Given the description of an element on the screen output the (x, y) to click on. 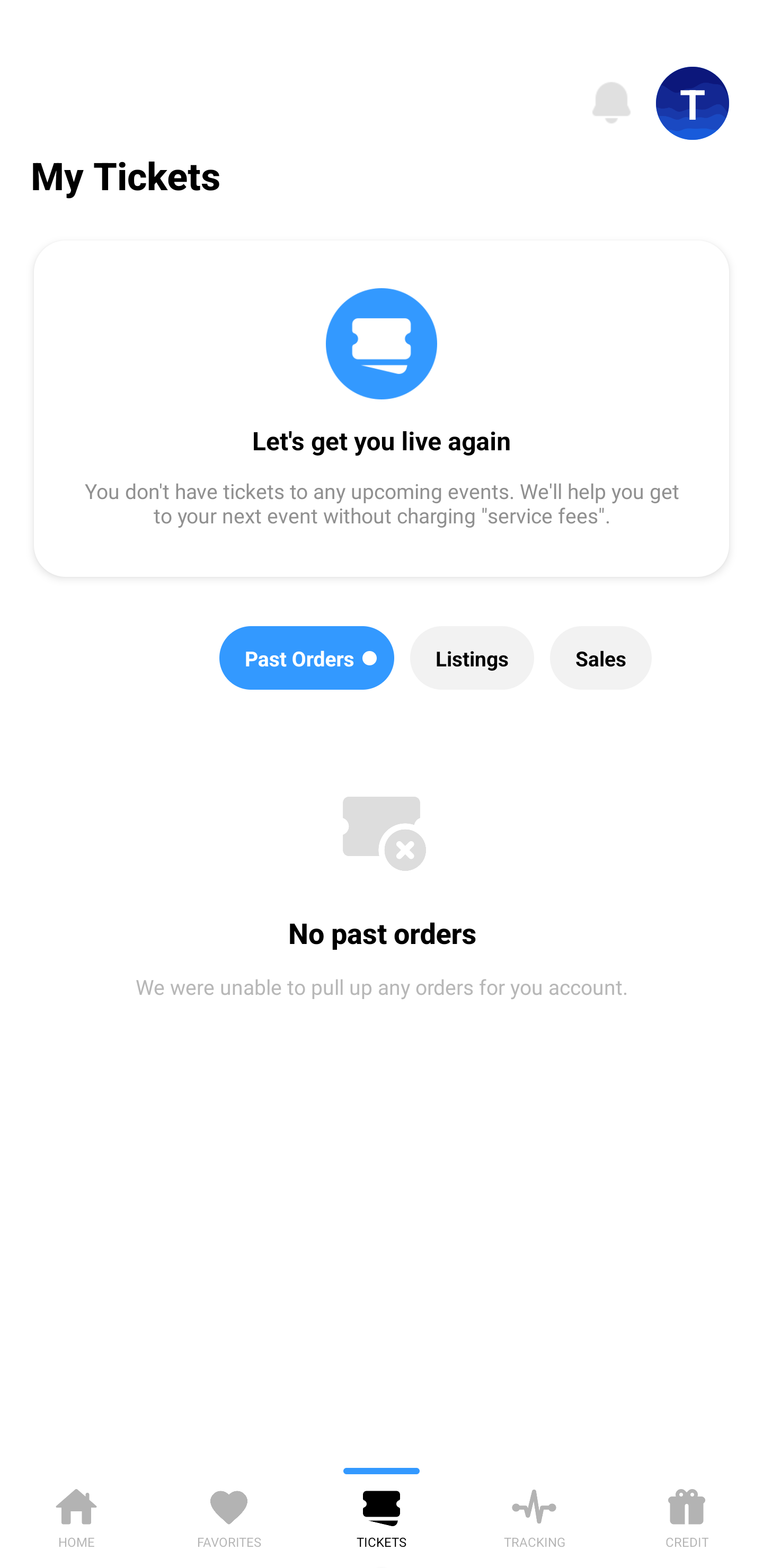
T (692, 103)
Past Orders (306, 657)
Listings (472, 657)
Sales (600, 657)
HOME (76, 1515)
FAVORITES (228, 1515)
TICKETS (381, 1515)
TRACKING (533, 1515)
CREDIT (686, 1515)
